Given the description of an element on the screen output the (x, y) to click on. 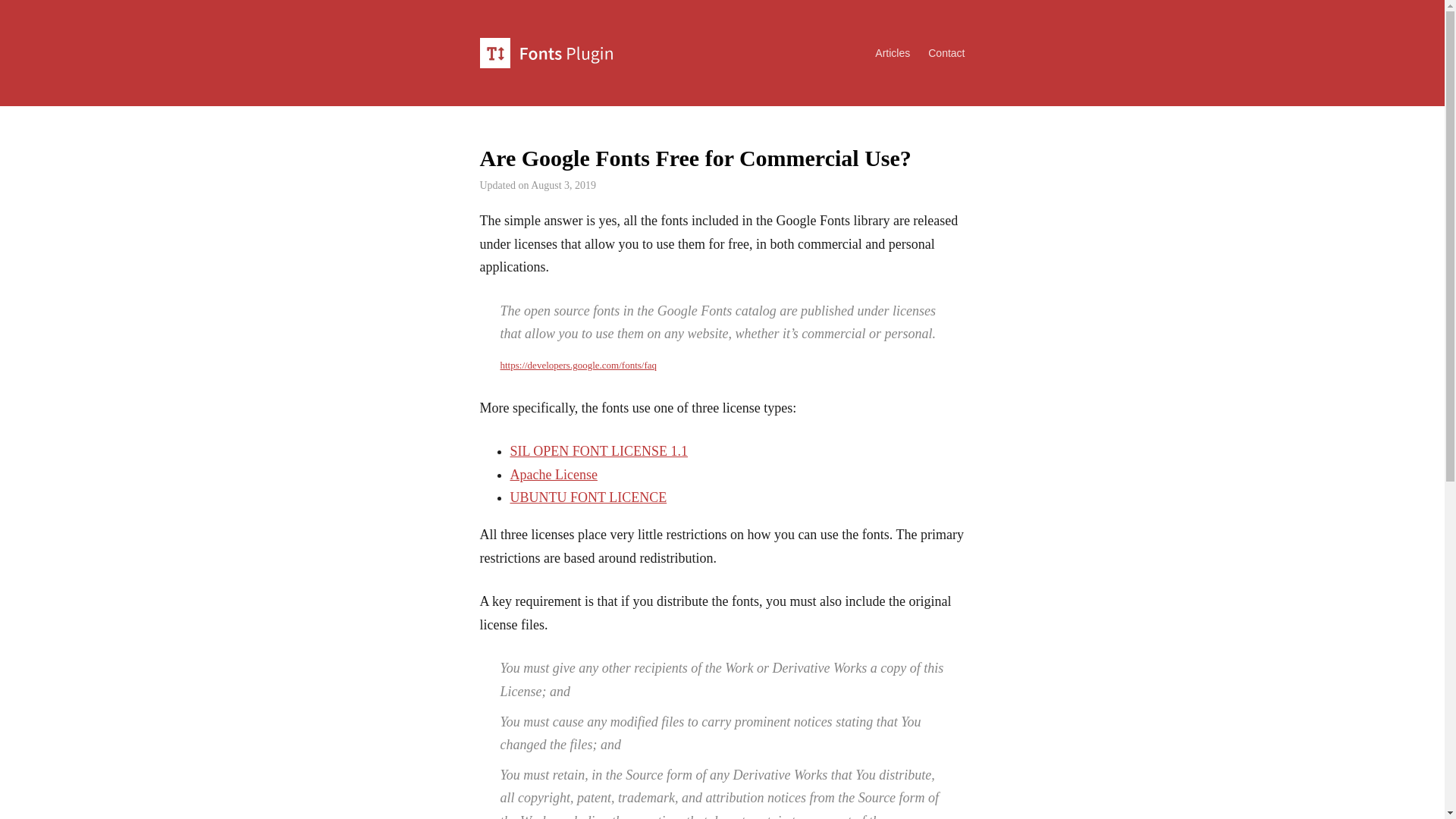
SIL OPEN FONT LICENSE 1.1 (598, 450)
Articles (883, 47)
Contact (936, 47)
Apache License (552, 474)
UBUNTU FONT LICENCE (587, 497)
